Given the description of an element on the screen output the (x, y) to click on. 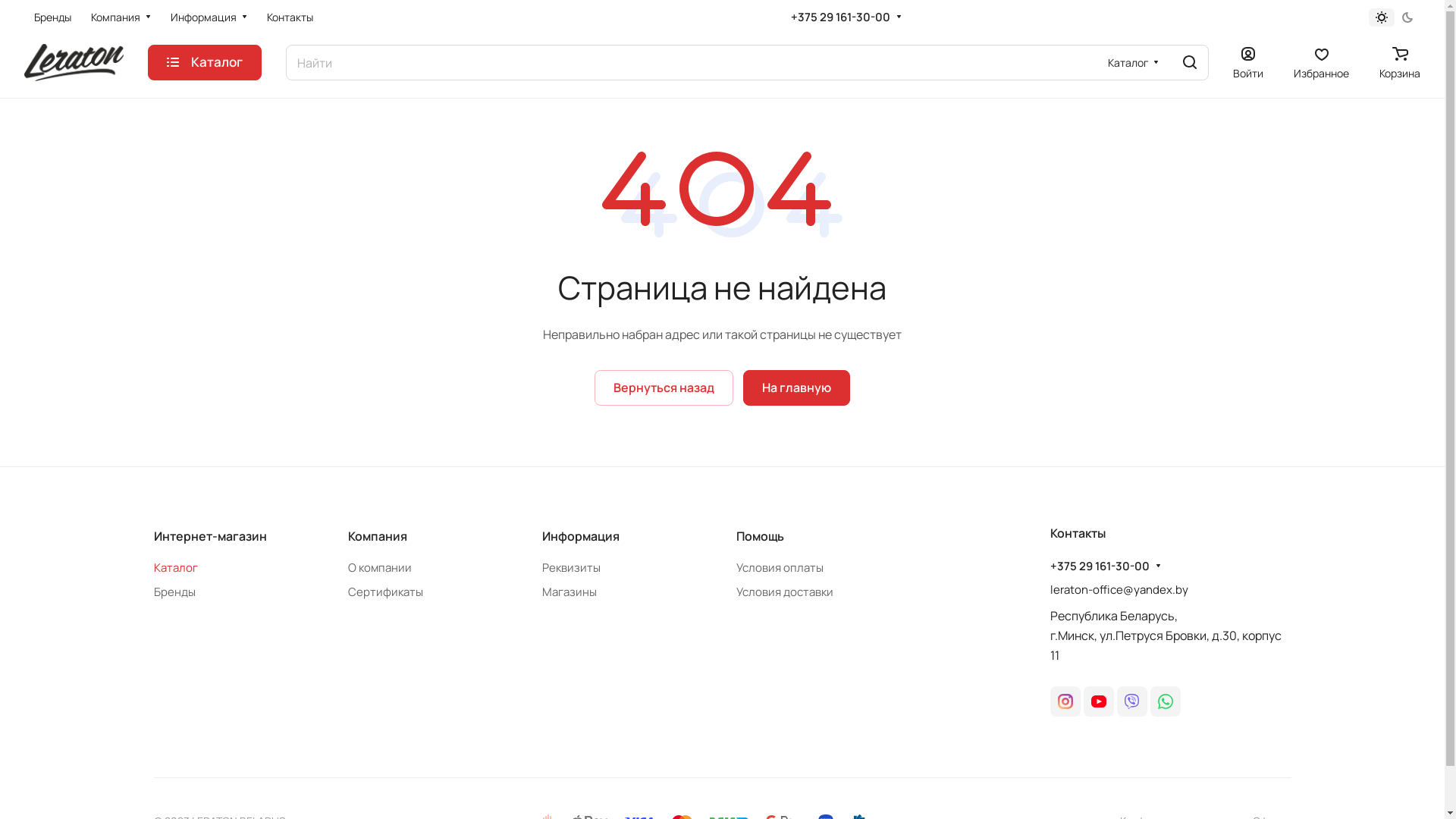
+375 29 161-30-00 Element type: text (1098, 566)
YouTube Element type: hover (1097, 701)
+375 29 161-30-00 Element type: text (839, 17)
Whats App Element type: hover (1164, 701)
Viber Element type: hover (1131, 701)
Leraton.by Element type: hover (73, 62)
leraton-office@yandex.by Element type: text (1118, 589)
Instagram Element type: hover (1064, 701)
